Given the description of an element on the screen output the (x, y) to click on. 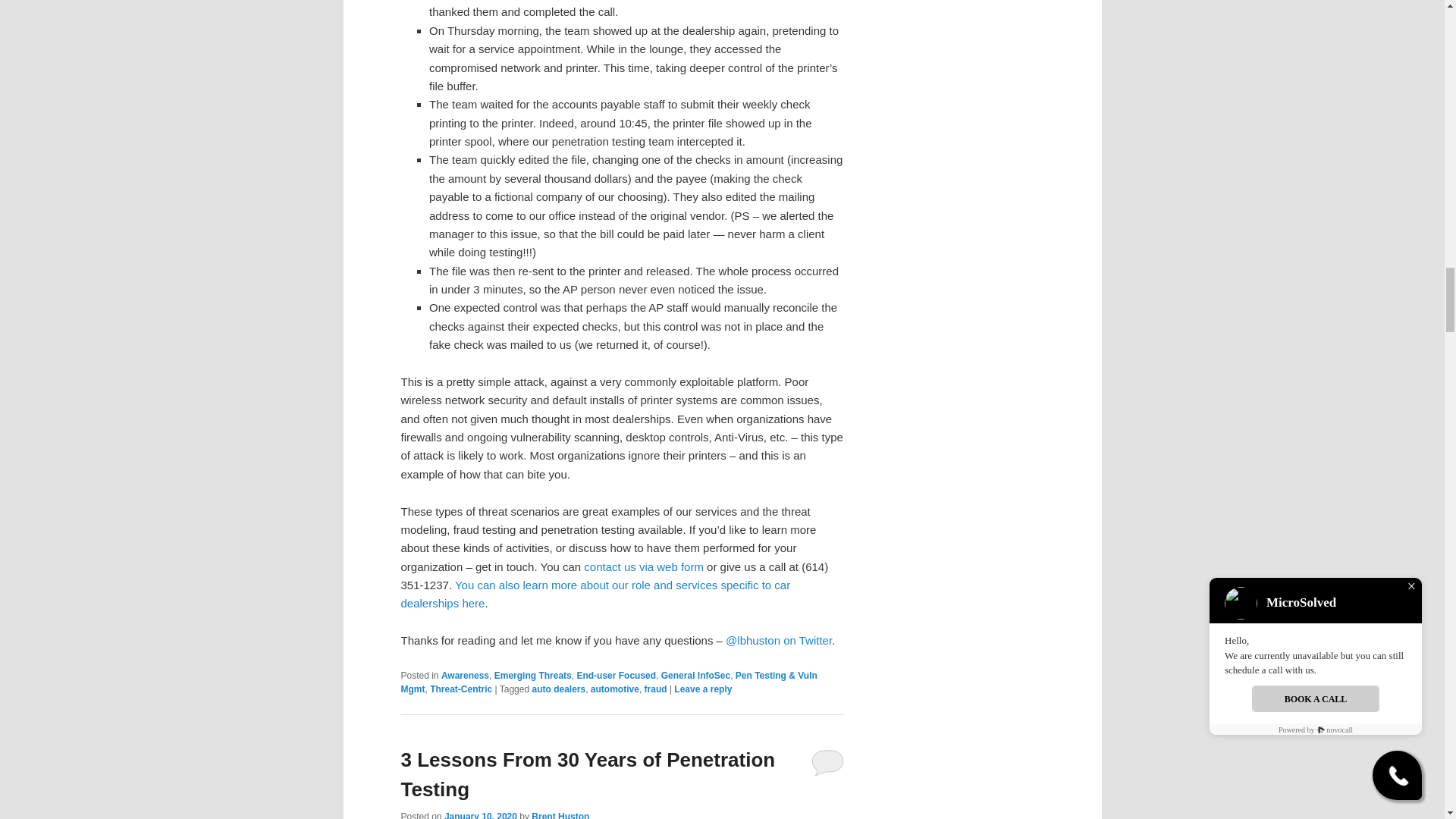
View all posts by Brent Huston (560, 815)
9:19 am (480, 815)
